Given the description of an element on the screen output the (x, y) to click on. 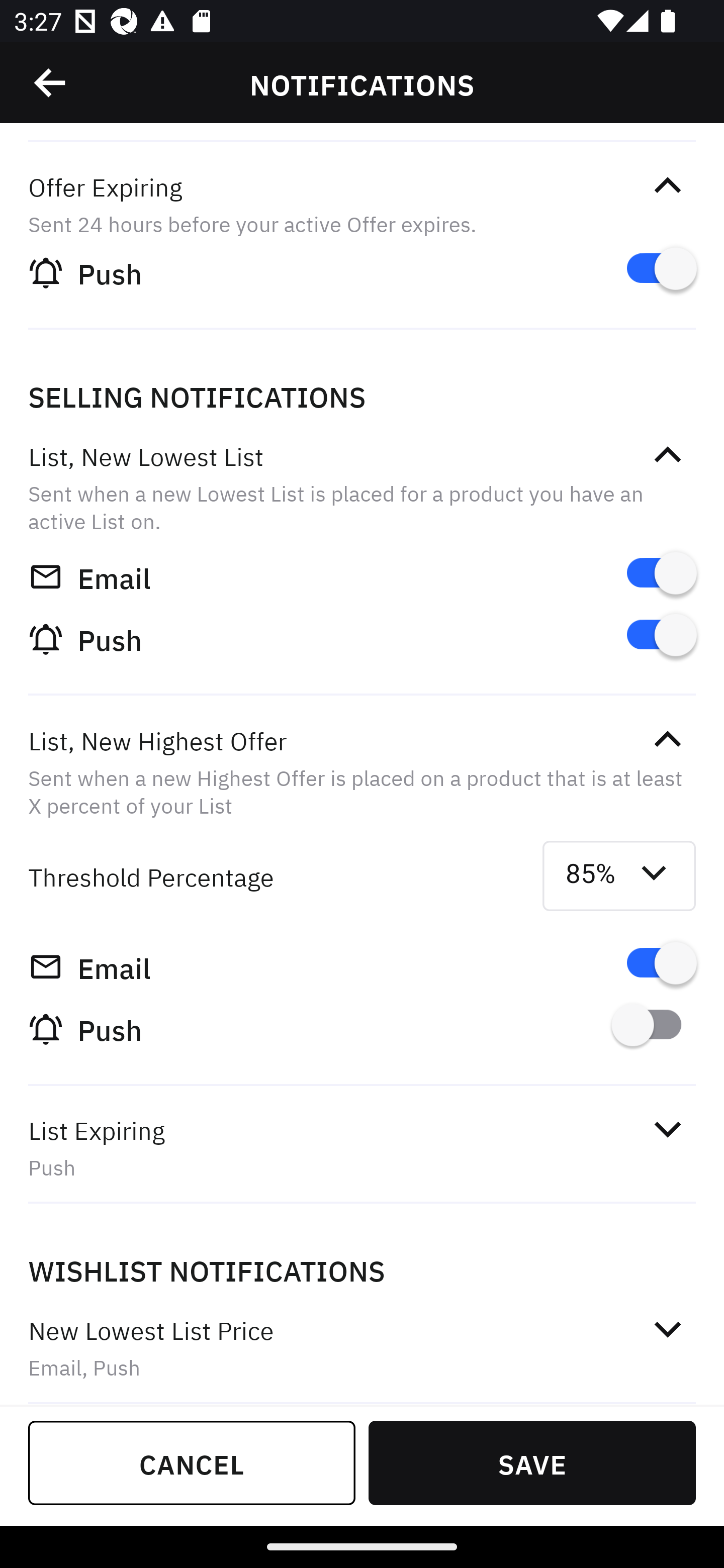
 (50, 83)
 (667, 185)
 (667, 455)
 (667, 739)
85%  (619, 876)
List Expiring  Push (361, 1148)
 (667, 1129)
New Lowest List Price  Email, Push (361, 1346)
 (667, 1328)
CANCEL (191, 1462)
SAVE (531, 1462)
